Given the description of an element on the screen output the (x, y) to click on. 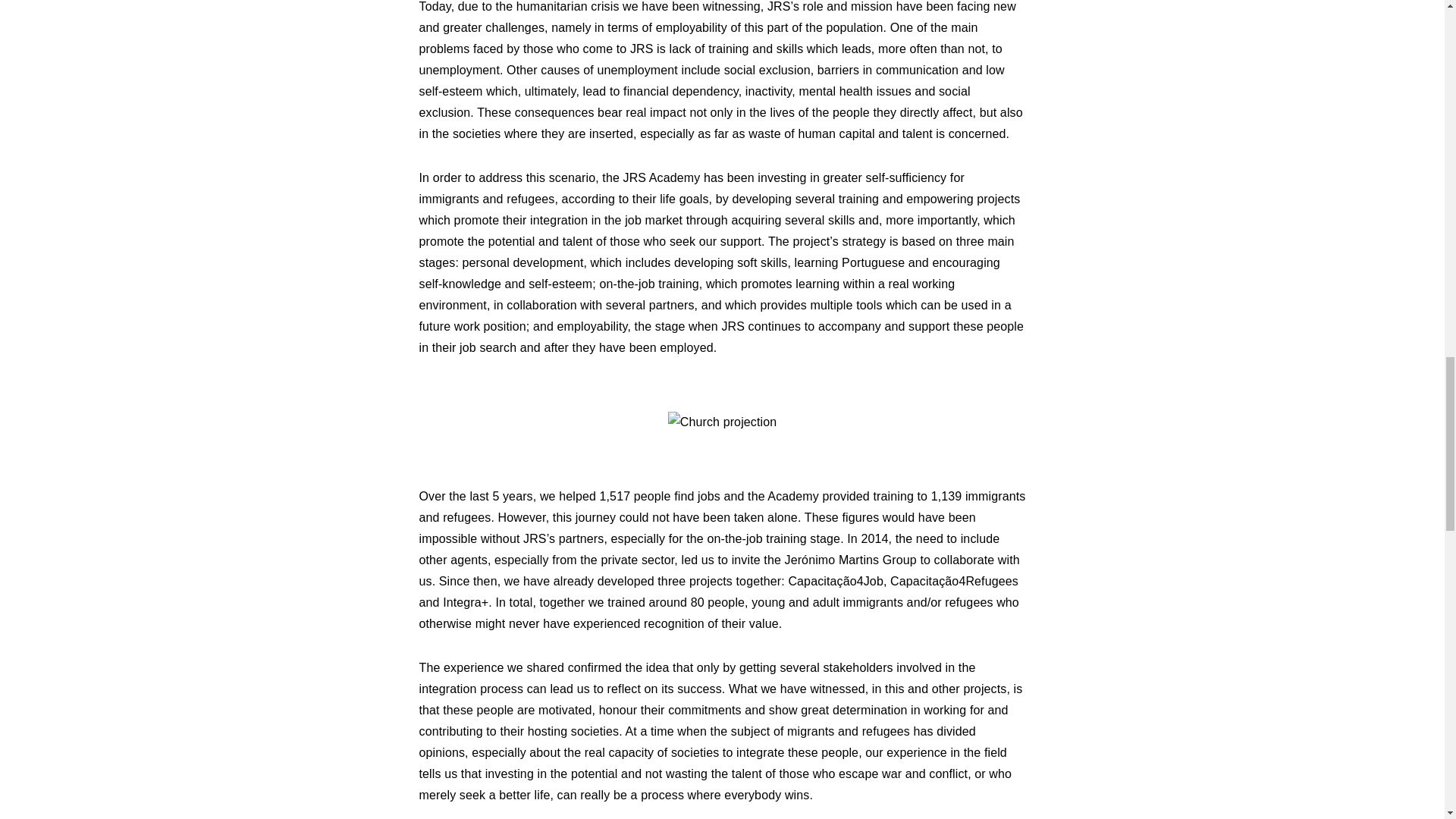
Window of Hope (1125, 660)
